Given the description of an element on the screen output the (x, y) to click on. 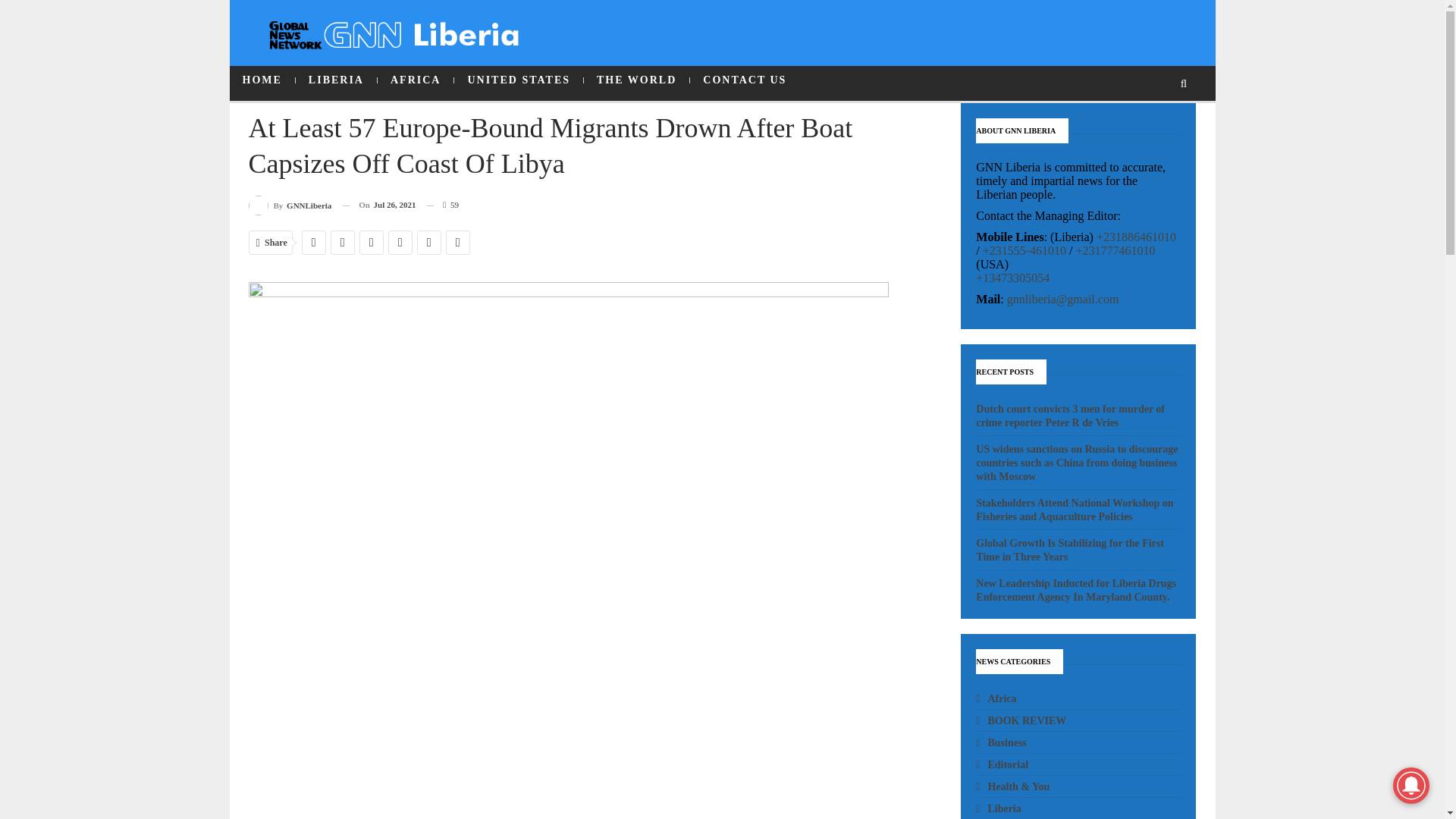
By GNNLiberia (289, 204)
LIBERIA (336, 80)
Browse Author Articles (289, 204)
AFRICA (414, 80)
CONTACT US (744, 80)
THE WORLD (635, 80)
HOME (261, 80)
UNITED STATES (518, 80)
